Given the description of an element on the screen output the (x, y) to click on. 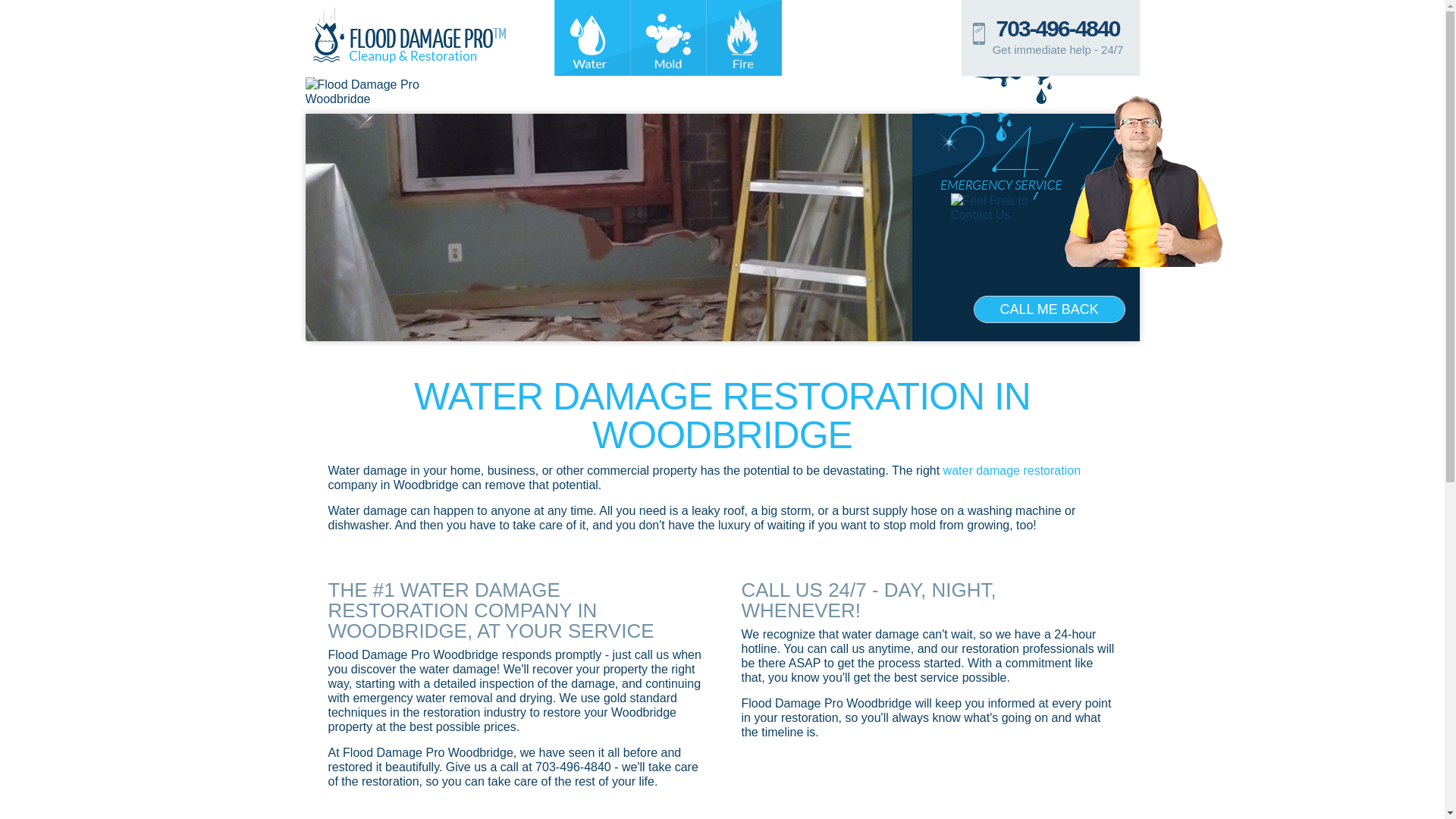
Water Leak (1011, 90)
Water Damage Restoration (590, 38)
Mold Remediation (666, 38)
Flood Damage Pro Woodbridge (391, 89)
water damage restoration (1011, 470)
CALL ME BACK (1049, 308)
Flood Damage Pro Woodbridge (409, 35)
703-496-4840 (1057, 27)
